Given the description of an element on the screen output the (x, y) to click on. 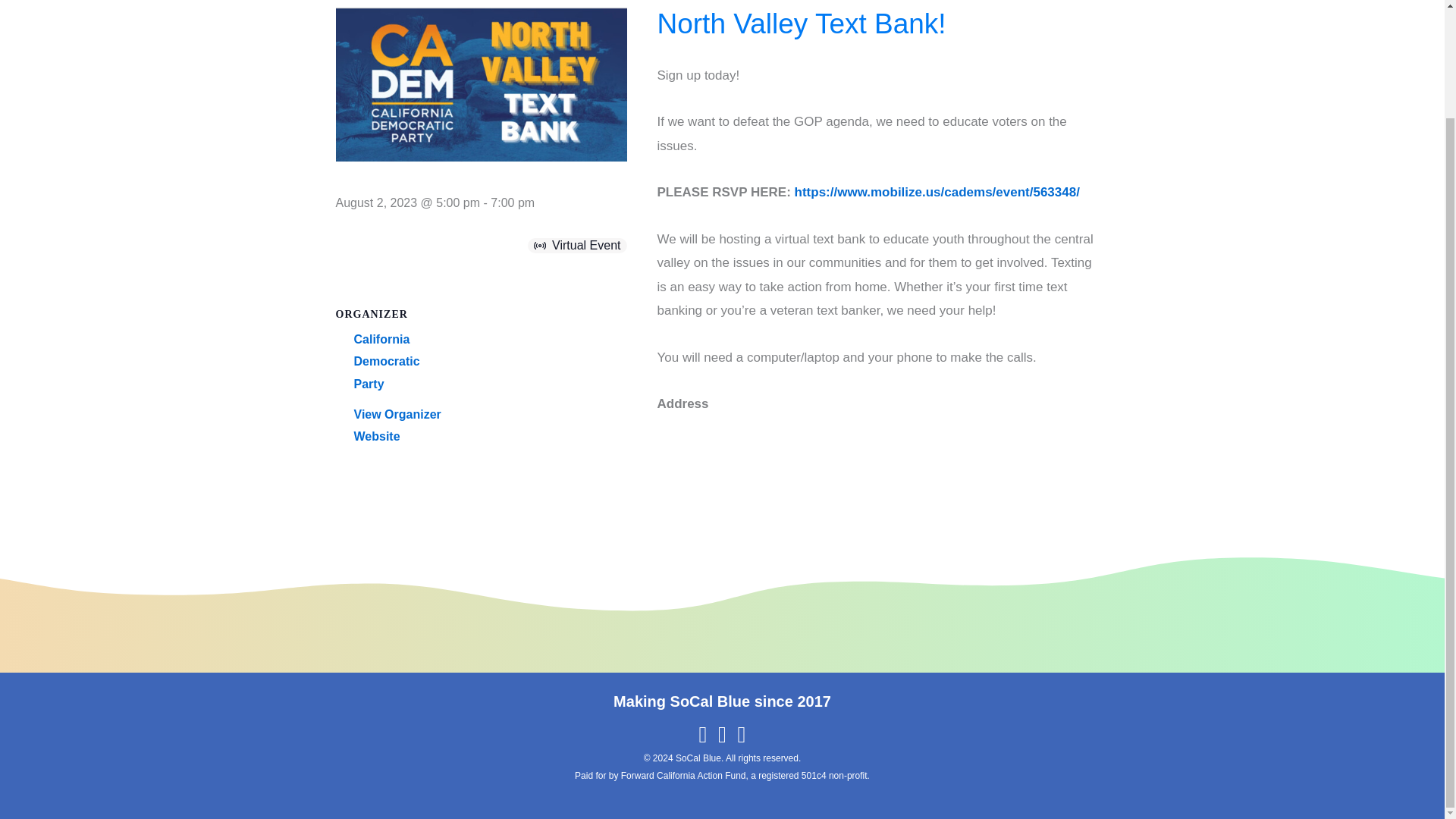
California Democratic Party (386, 361)
Virtual Event (540, 245)
Virtual Event (541, 245)
CADEM text bank (480, 84)
